Given the description of an element on the screen output the (x, y) to click on. 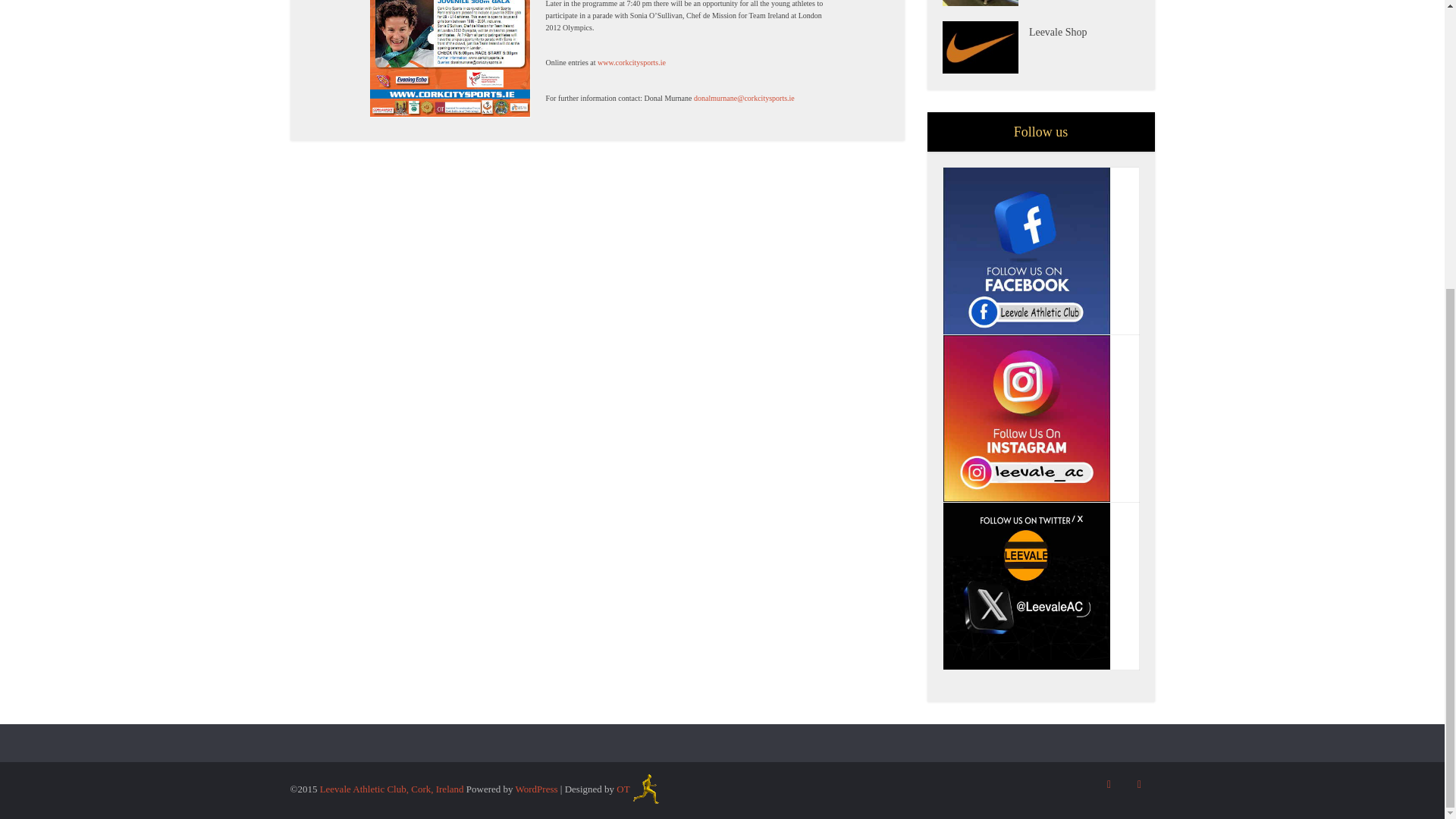
Leevale Shop (984, 47)
High-Performance Centre Fob (984, 2)
300 Gala picture (450, 58)
Wordpress CMS (536, 788)
Leevale Shop (1084, 30)
